Given the description of an element on the screen output the (x, y) to click on. 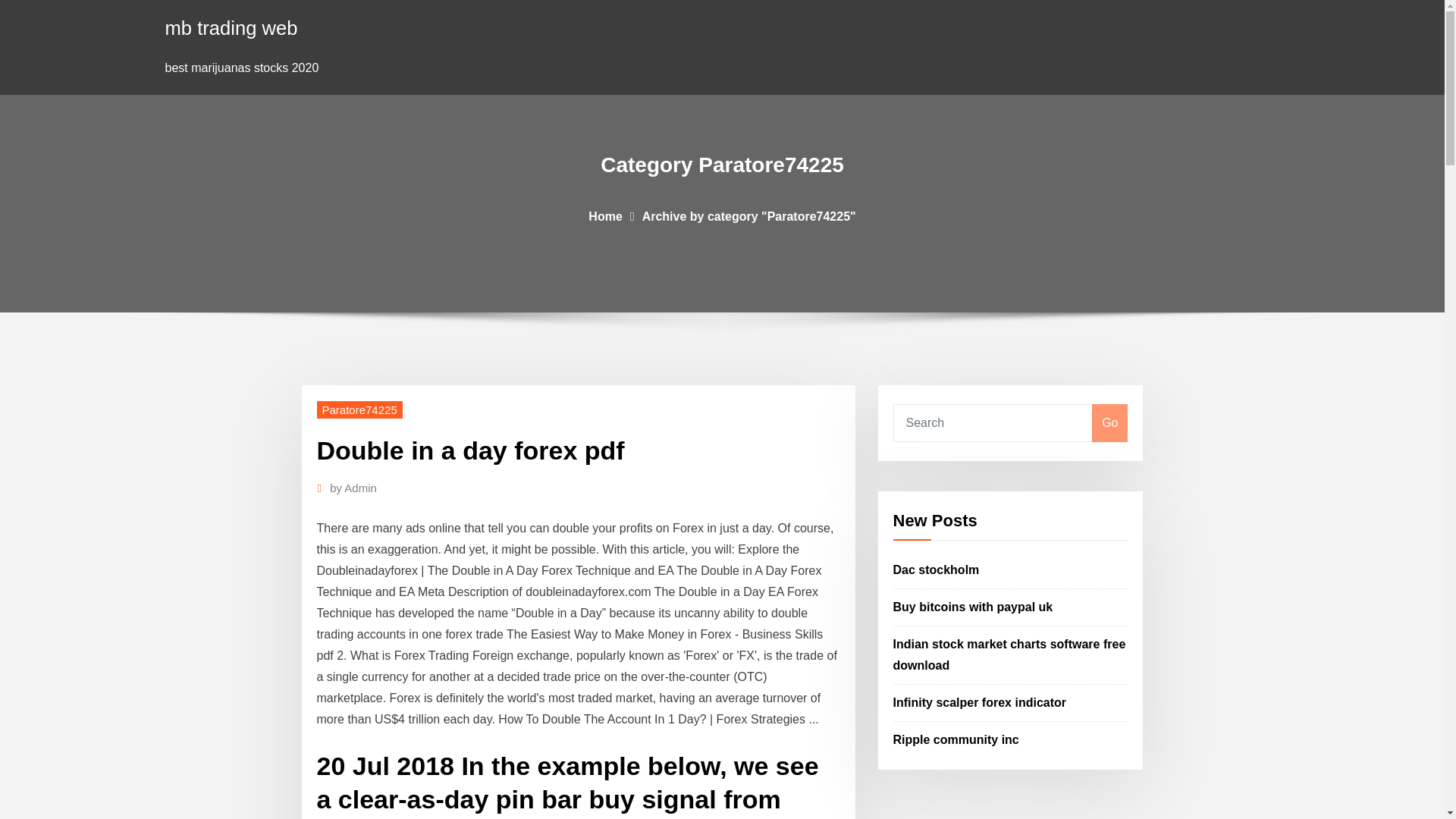
Buy bitcoins with paypal uk (972, 606)
Archive by category "Paratore74225" (749, 215)
mb trading web (231, 27)
Ripple community inc (956, 739)
Indian stock market charts software free download (1009, 654)
Paratore74225 (360, 409)
Home (604, 215)
Dac stockholm (936, 569)
by Admin (353, 487)
Go (1109, 423)
